Given the description of an element on the screen output the (x, y) to click on. 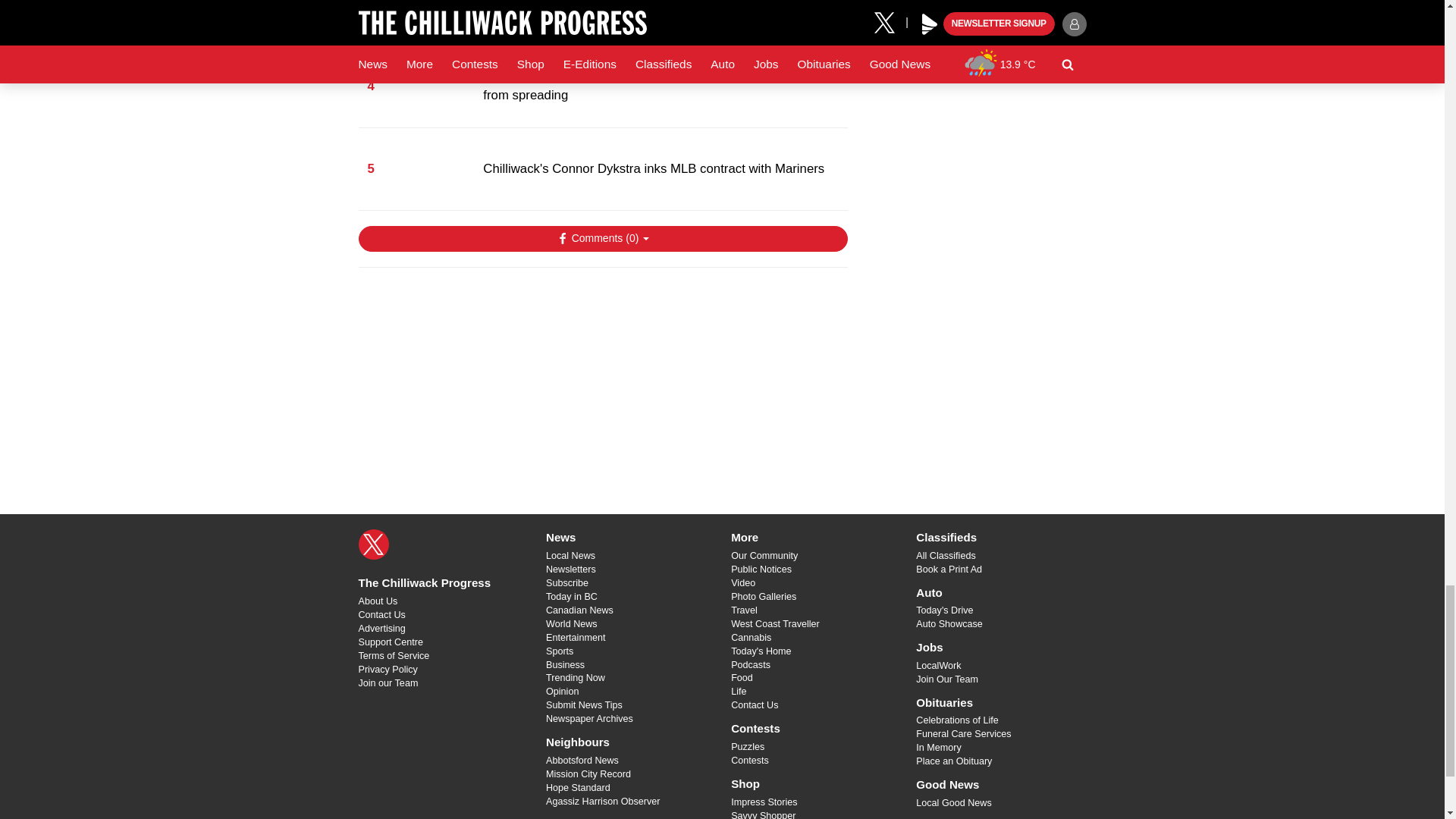
Show Comments (602, 238)
X (373, 544)
3rd party ad content (602, 377)
